Given the description of an element on the screen output the (x, y) to click on. 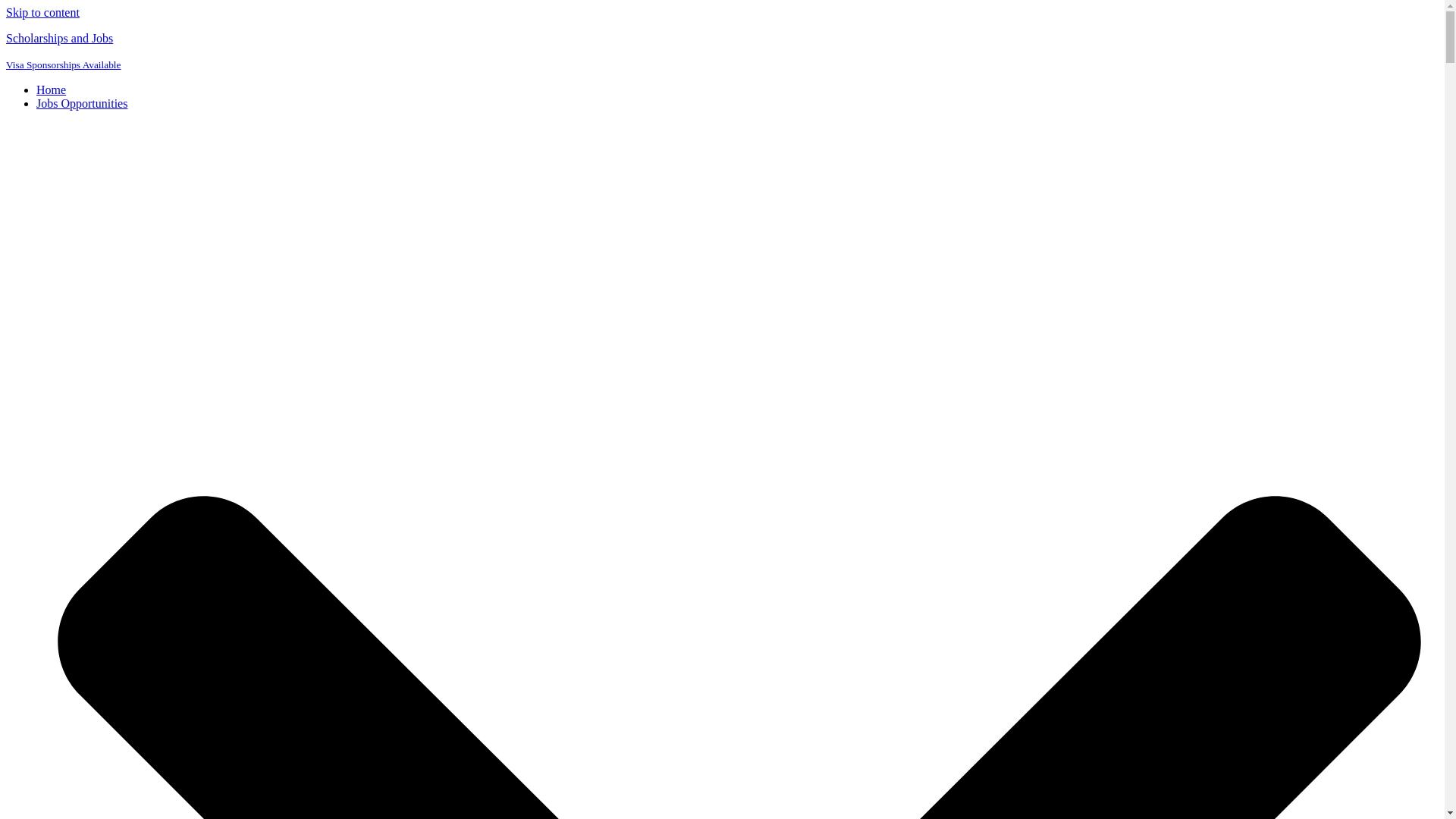
Skip to content (42, 11)
Home (50, 89)
Jobs Opportunities (82, 103)
